Given the description of an element on the screen output the (x, y) to click on. 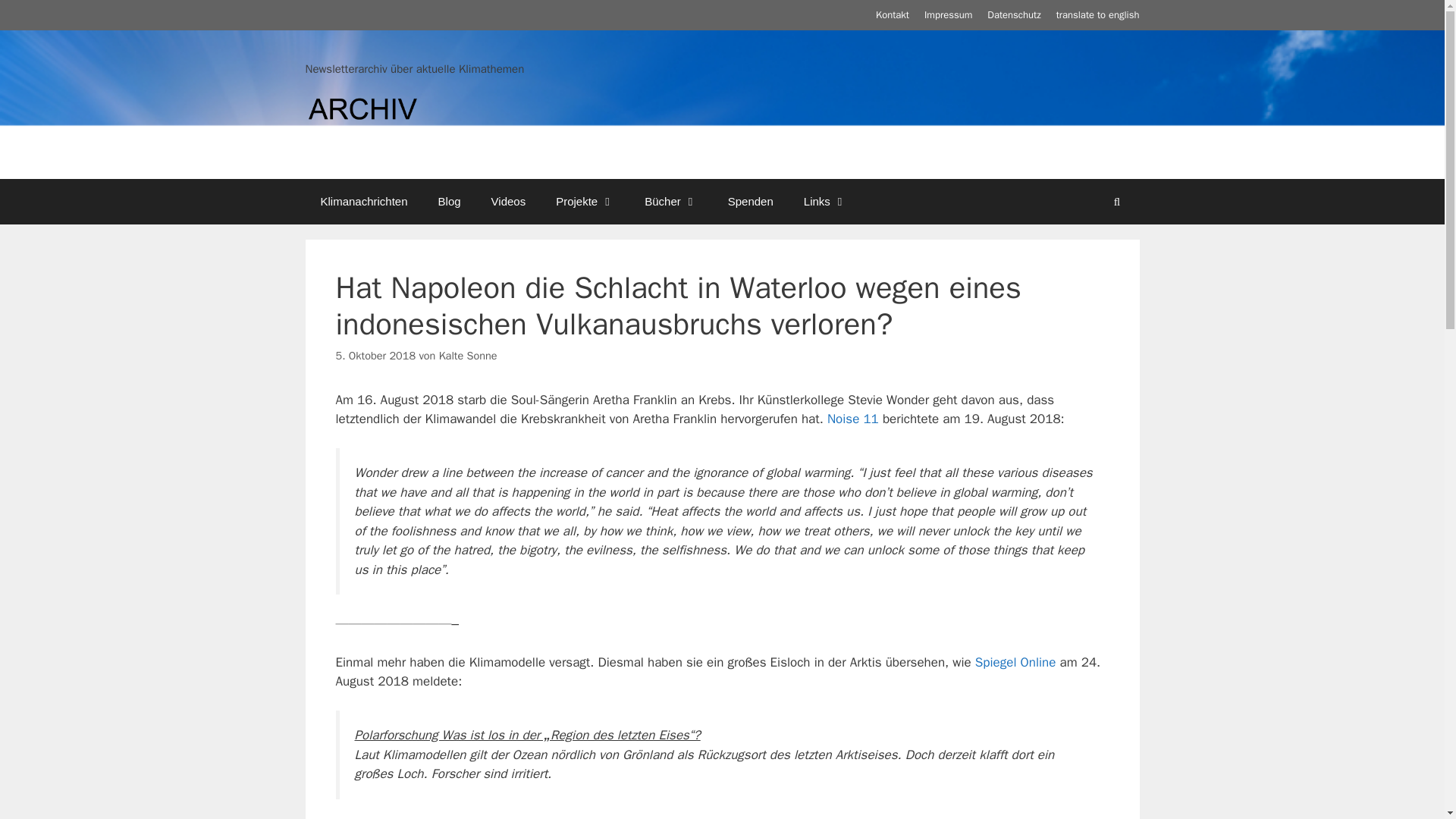
Suchen (1116, 201)
Links (825, 201)
Klimanachrichten (363, 201)
Videos (508, 201)
Projekte (584, 201)
Archiv Klimanachrichten (361, 112)
Suchen (1116, 201)
Spenden (751, 201)
Impressum (948, 14)
